Given the description of an element on the screen output the (x, y) to click on. 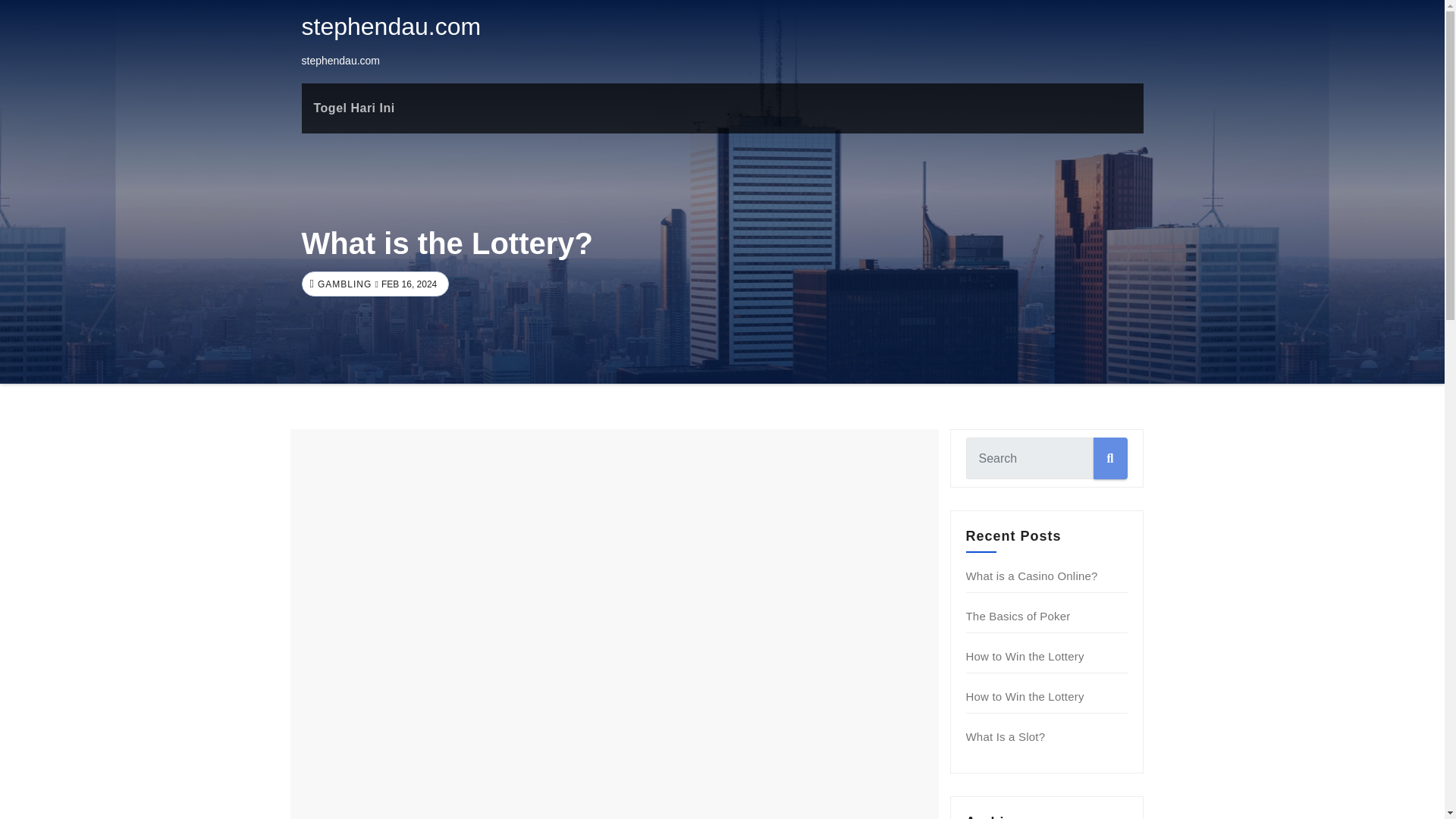
What Is a Slot? (1005, 736)
Togel Hari Ini (354, 108)
How to Win the Lottery (1025, 696)
The Basics of Poker (1018, 615)
stephendau.com (391, 26)
Togel Hari Ini (354, 108)
GAMBLING (342, 284)
How to Win the Lottery (1025, 656)
What is a Casino Online? (1031, 575)
